Given the description of an element on the screen output the (x, y) to click on. 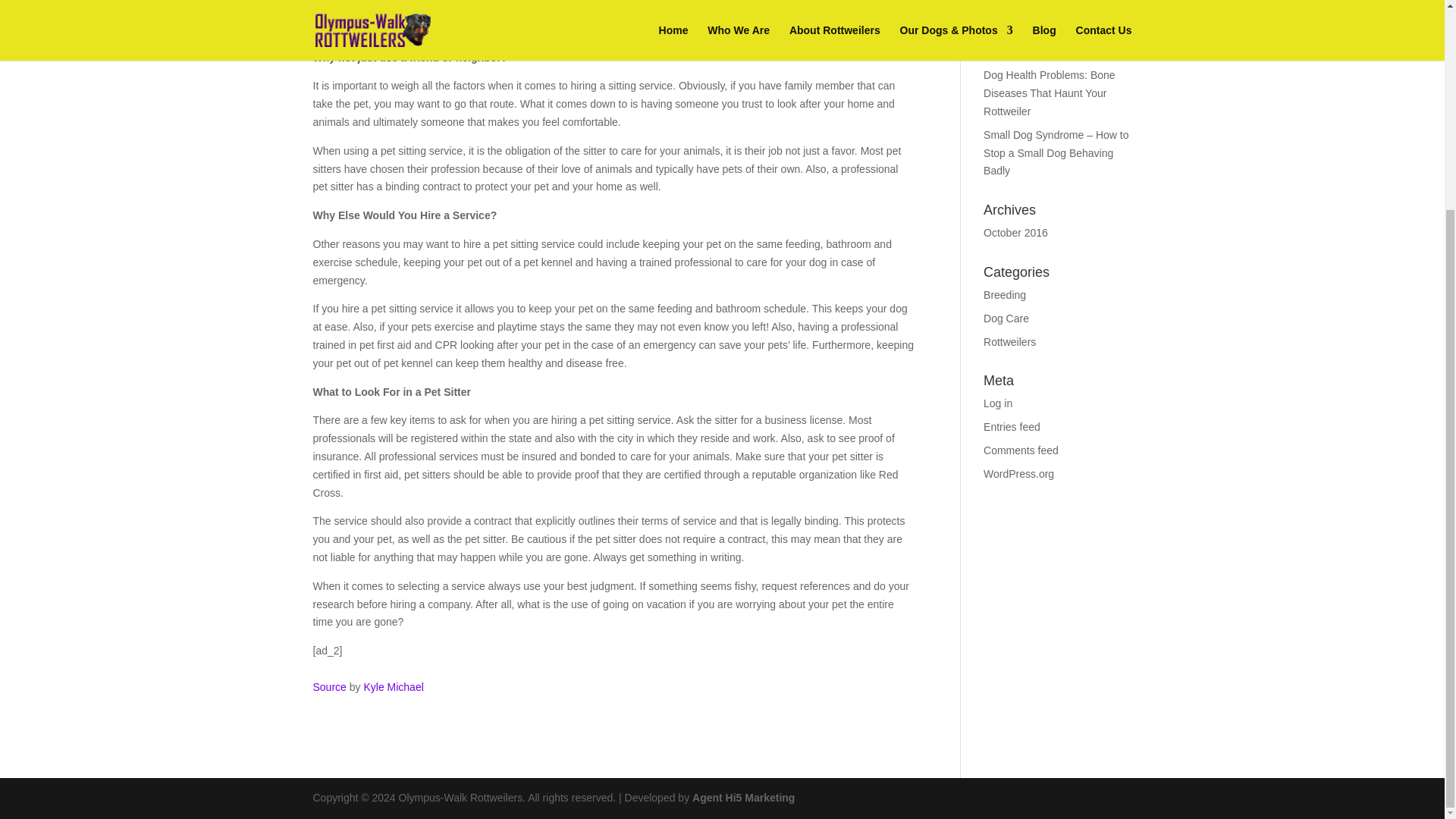
Rottweilers (1009, 341)
Entries feed (1012, 426)
Kyle Michael (392, 686)
Log in (997, 403)
Breeding (1005, 295)
WordPress.org (1019, 473)
Agent Hi5 Marketing (743, 797)
October 2016 (1016, 232)
Source (329, 686)
Dog Care (1006, 318)
Comments feed (1021, 450)
